Given the description of an element on the screen output the (x, y) to click on. 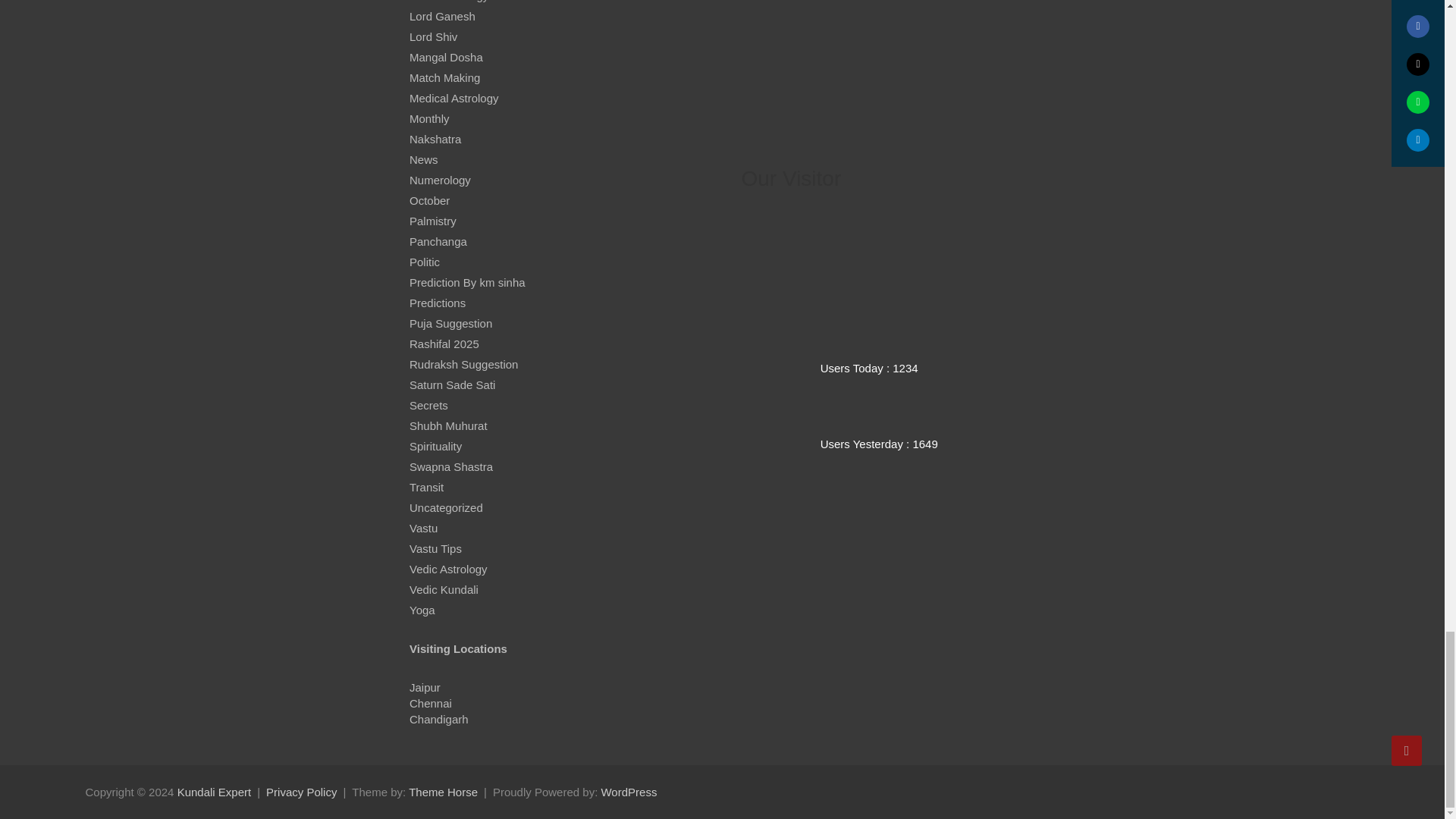
WordPress (627, 791)
Theme Horse (443, 791)
Kundali Expert (214, 791)
